Given the description of an element on the screen output the (x, y) to click on. 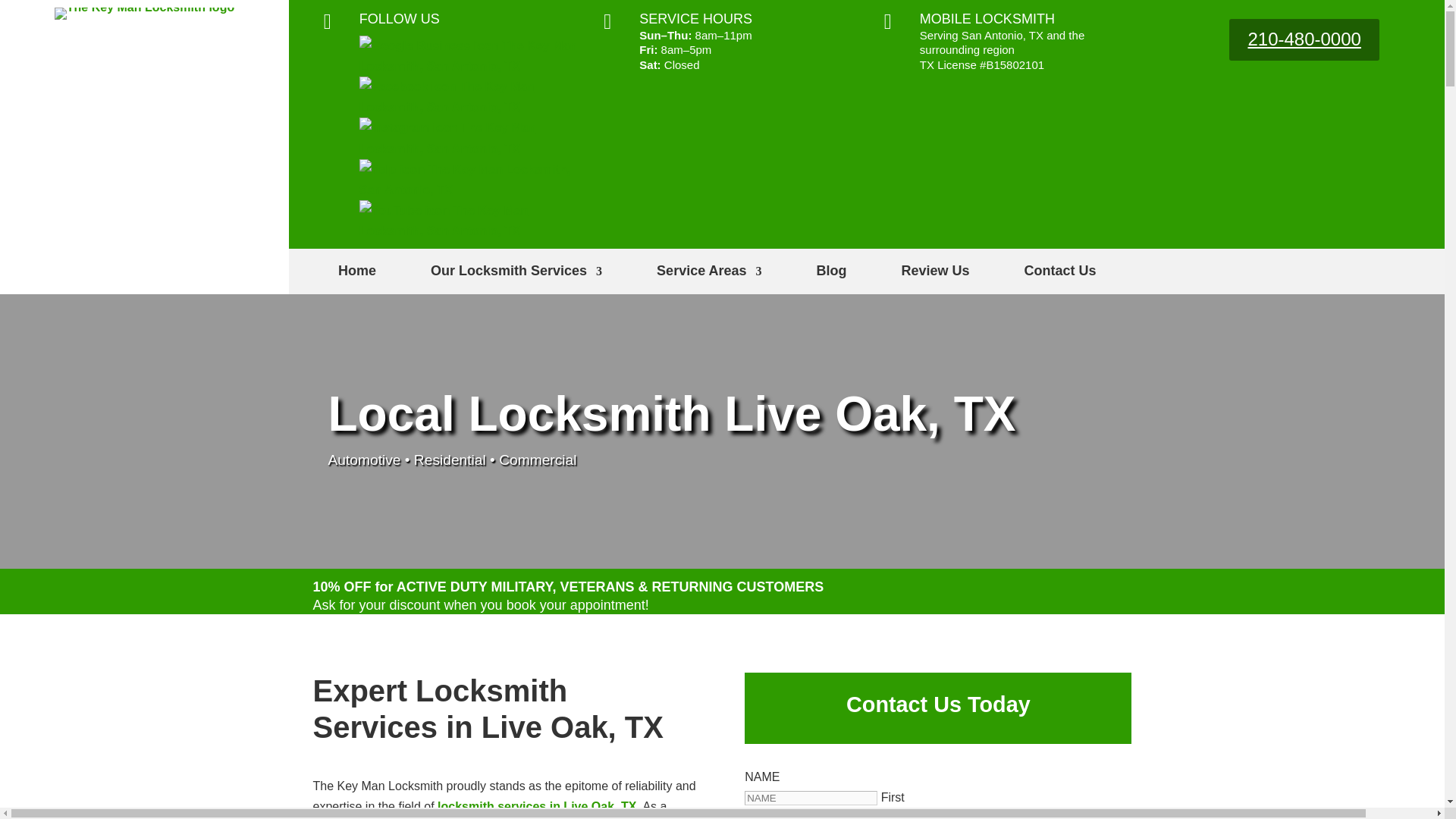
210-480-0000 (1303, 39)
key-man-logo (144, 6)
Our Locksmith Services (516, 273)
Service Areas (708, 273)
Home (356, 273)
